Given the description of an element on the screen output the (x, y) to click on. 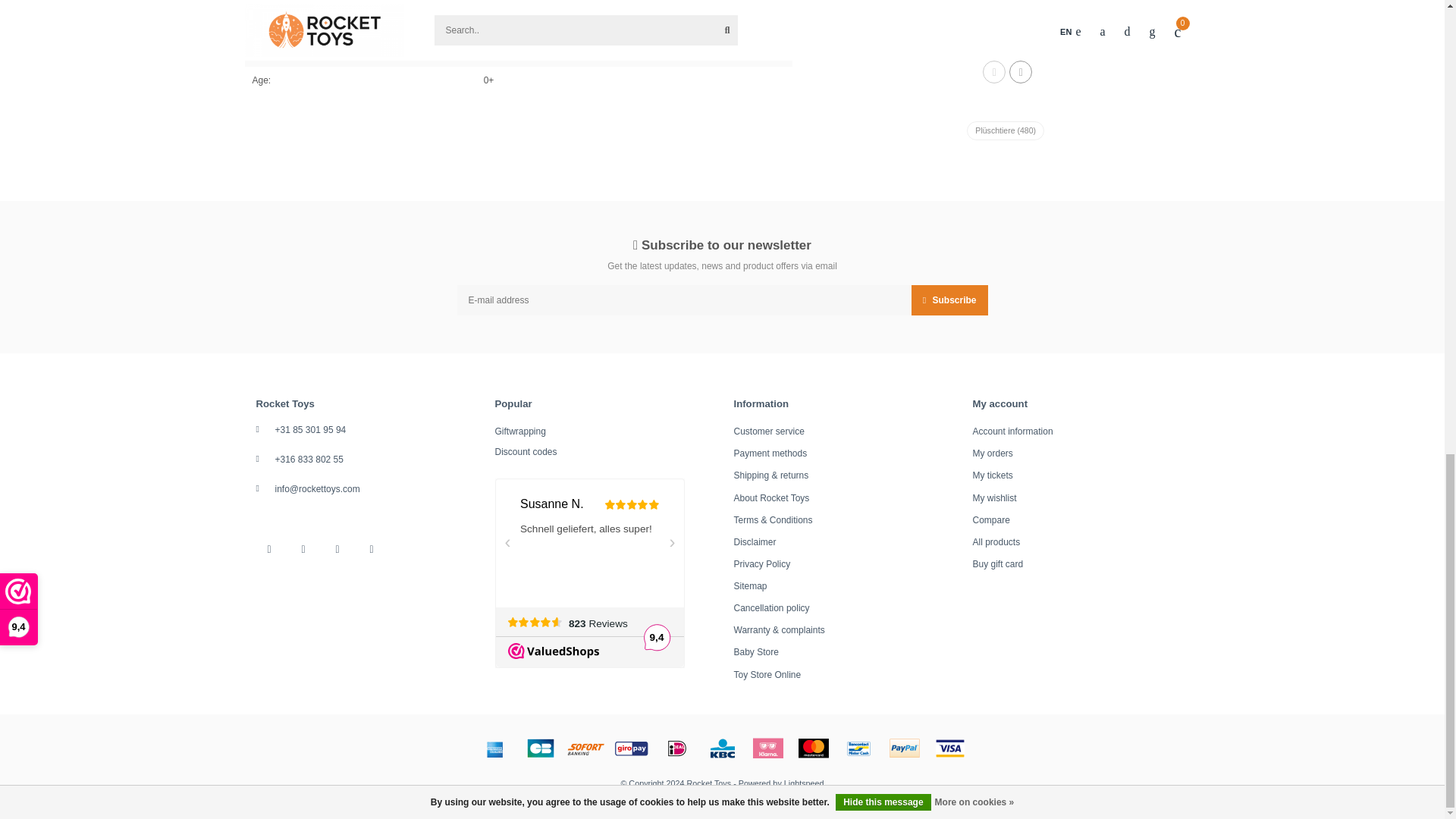
1 (1094, 22)
1 (925, 22)
